Given the description of an element on the screen output the (x, y) to click on. 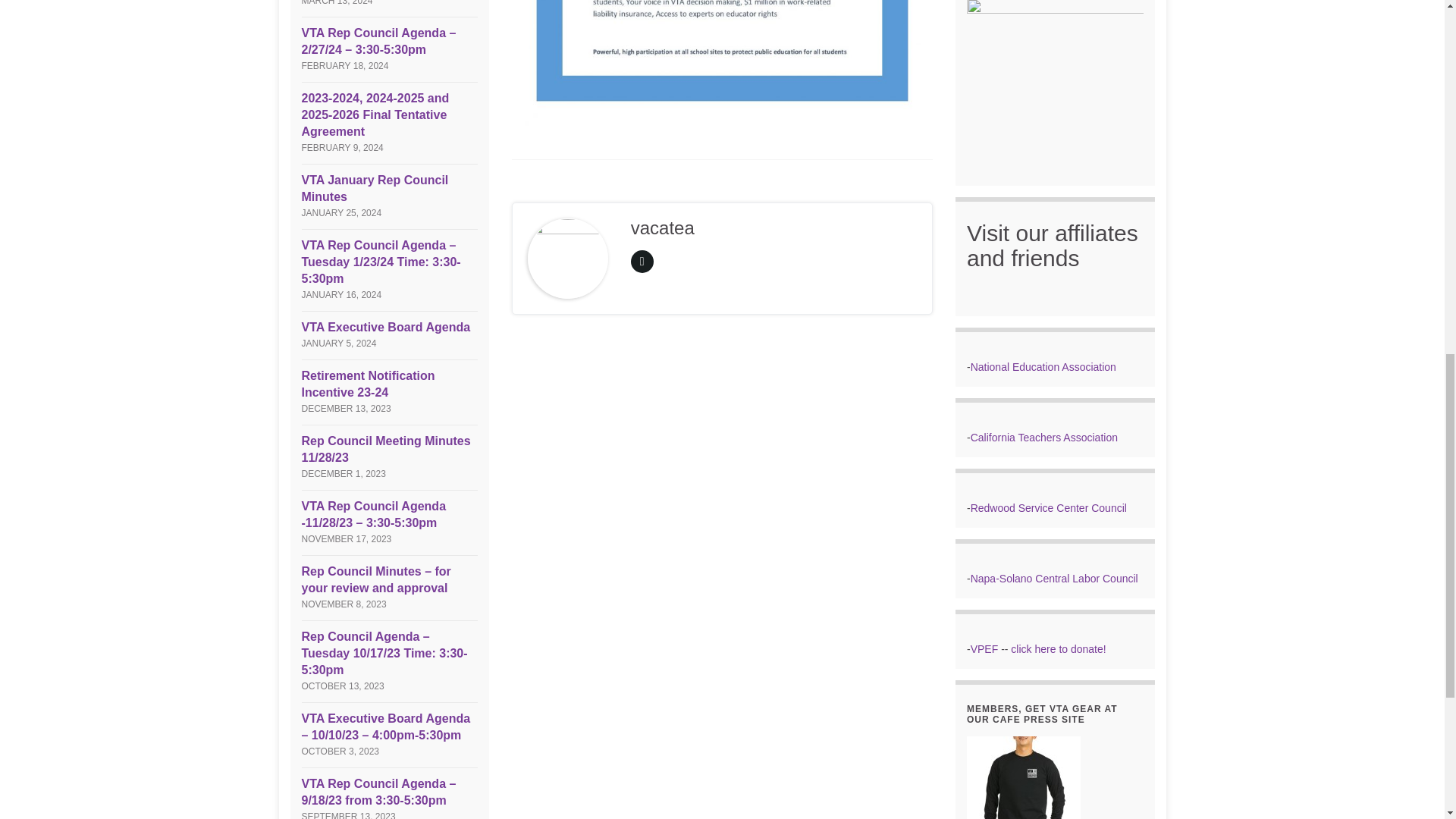
VPEF Donation Form (1057, 648)
